Given the description of an element on the screen output the (x, y) to click on. 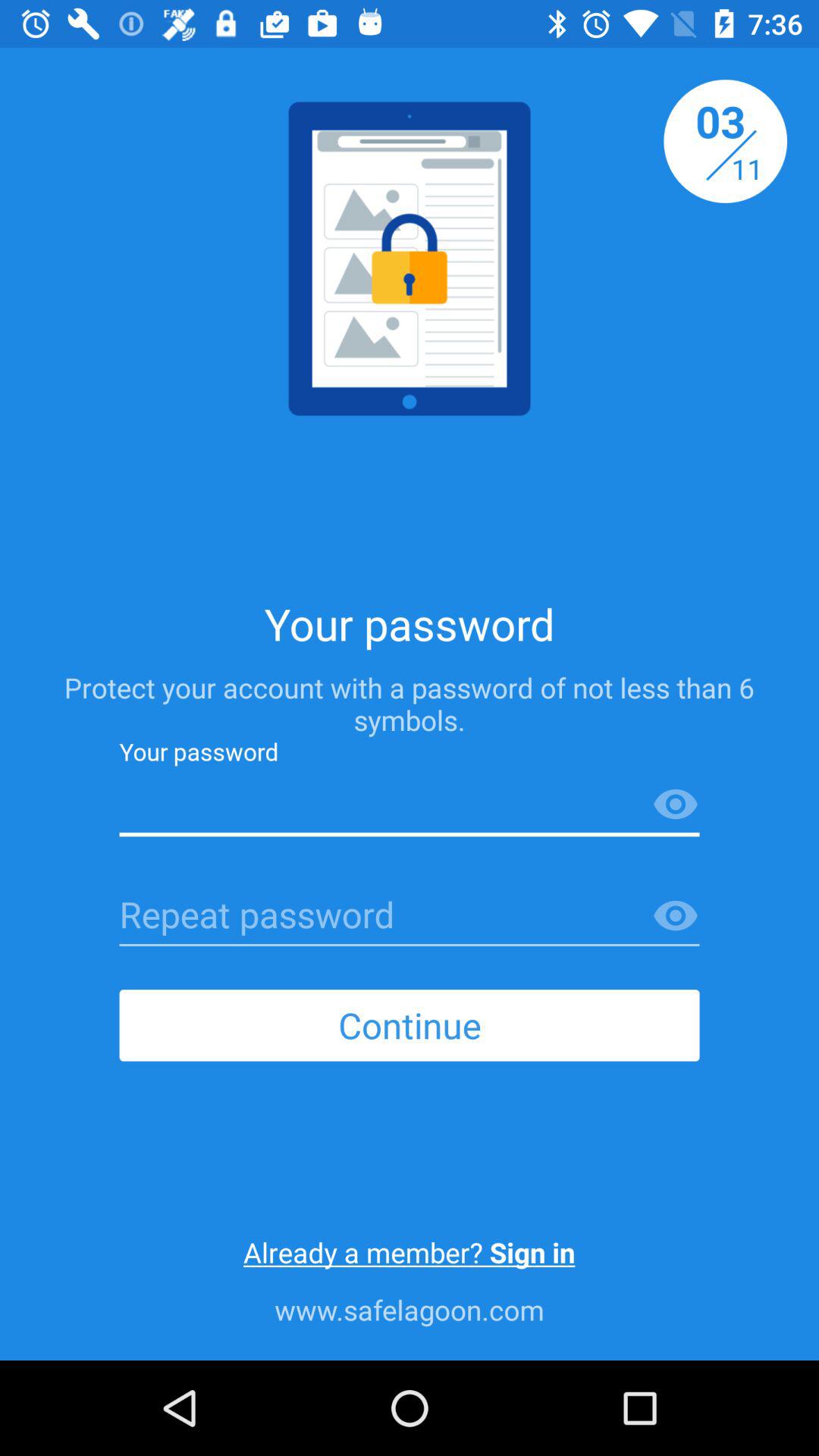
repeat password (409, 916)
